Given the description of an element on the screen output the (x, y) to click on. 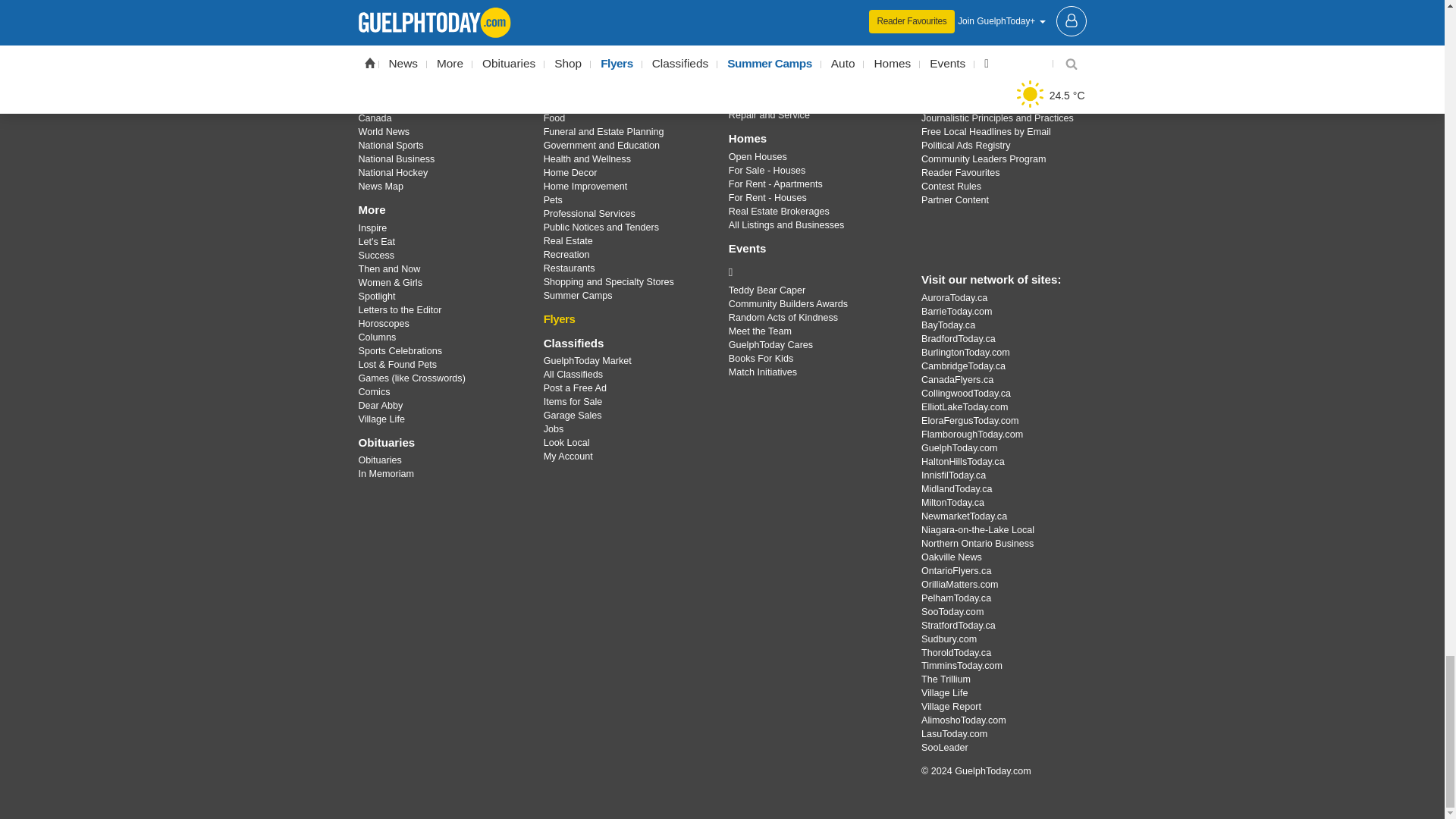
GuelphToday Cares (813, 271)
